Given the description of an element on the screen output the (x, y) to click on. 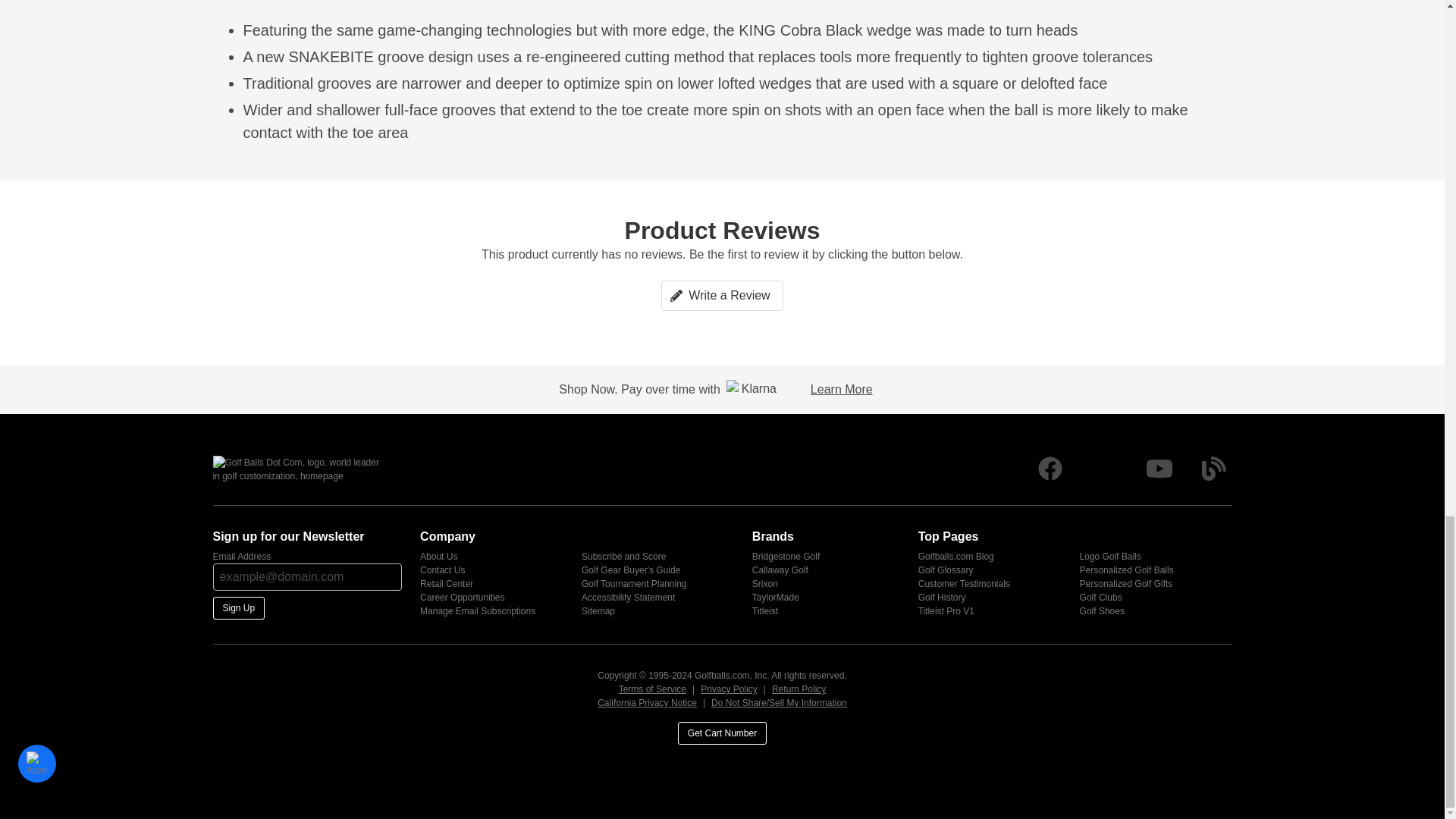
Product Reviews (721, 277)
